Given the description of an element on the screen output the (x, y) to click on. 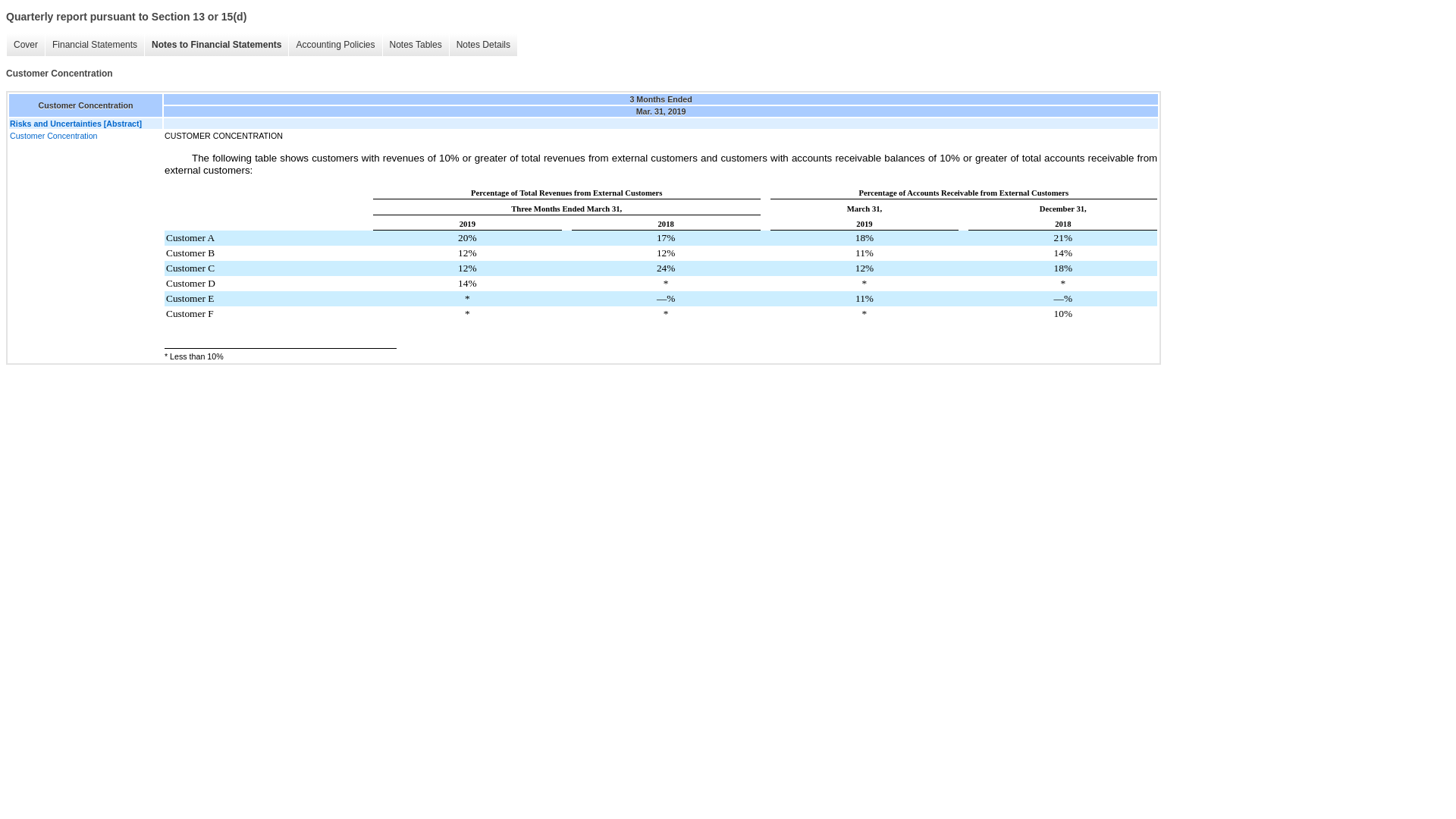
Financial Statements (94, 44)
Notes Tables (414, 44)
Cover (25, 44)
Accounting Policies (334, 44)
Notes to Financial Statements (216, 44)
